Given the description of an element on the screen output the (x, y) to click on. 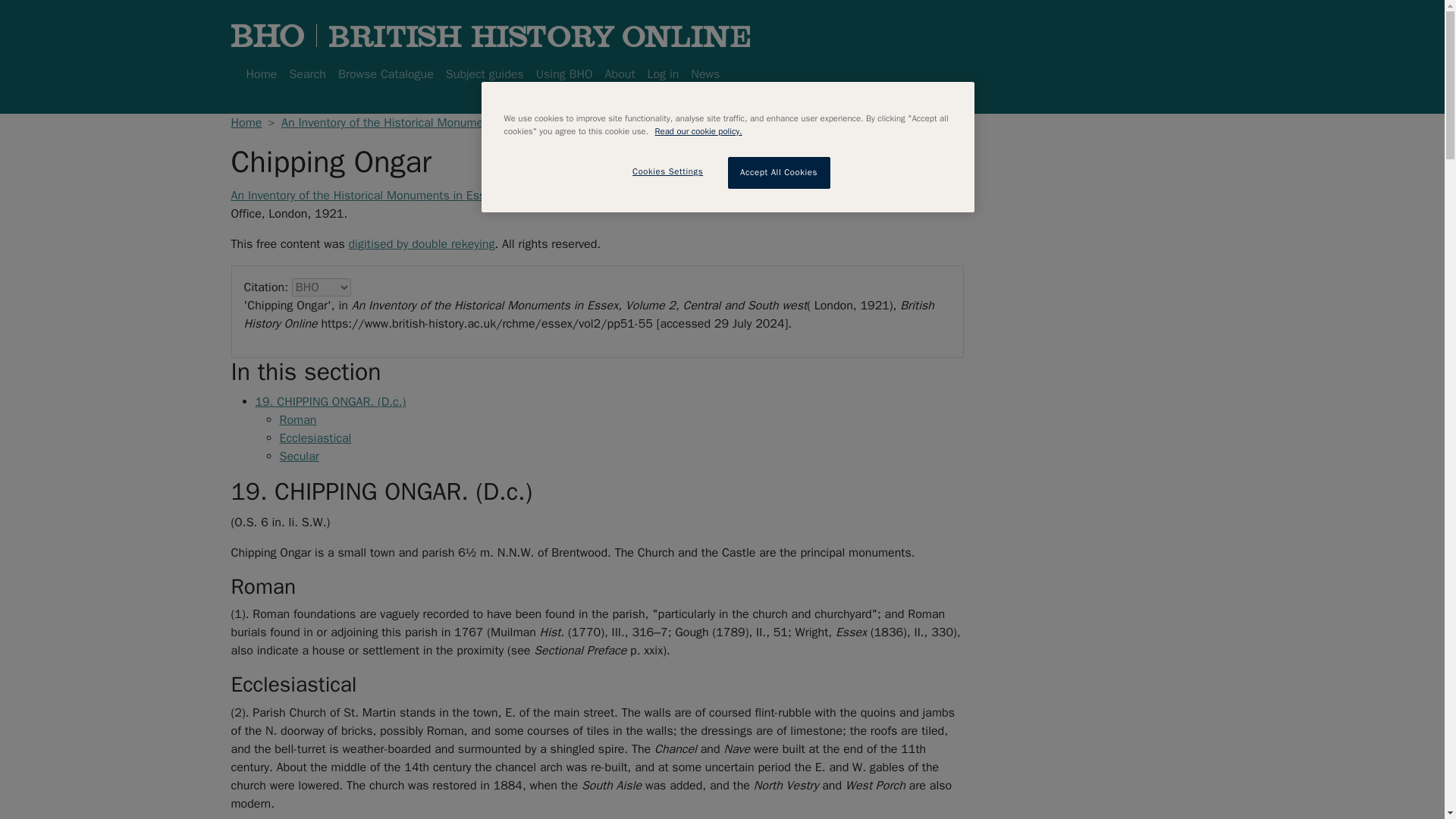
Subject guides (484, 73)
Roman (297, 419)
Home (246, 122)
Cookies Settings (667, 172)
digitised by double rekeying (421, 243)
An Inventory of the Historical Monuments in Essex (414, 122)
Using BHO (563, 73)
Log in (662, 73)
Search (306, 73)
Accept All Cookies (778, 173)
Home (261, 73)
Secular (298, 456)
News (704, 73)
Read our cookie policy. (698, 131)
Ecclesiastical (314, 437)
